Given the description of an element on the screen output the (x, y) to click on. 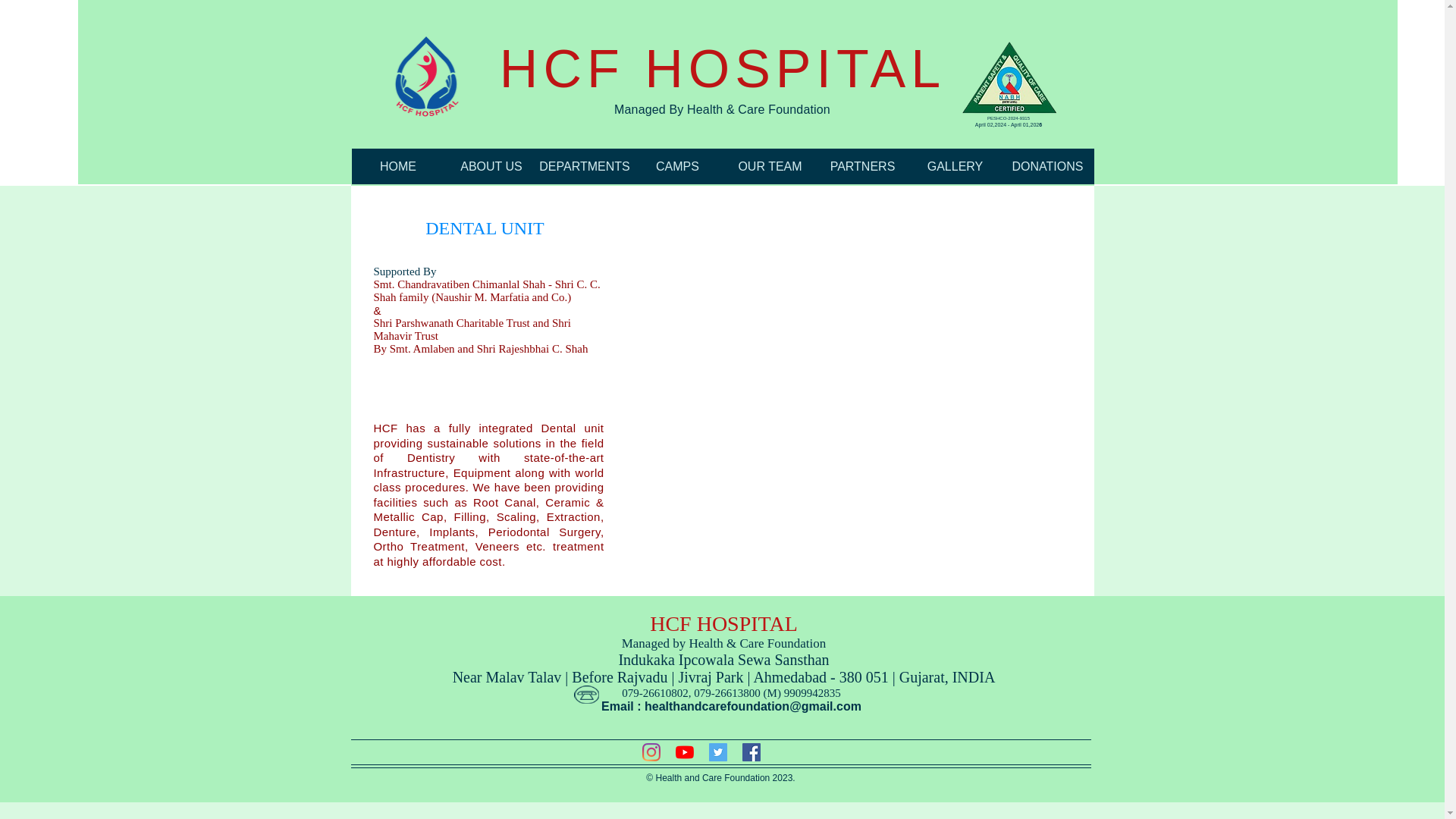
ABOUT US (490, 166)
HOME (398, 166)
OUR TEAM (769, 166)
CAMPS (676, 166)
GALLERY (954, 166)
PARTNERS (861, 166)
